Given the description of an element on the screen output the (x, y) to click on. 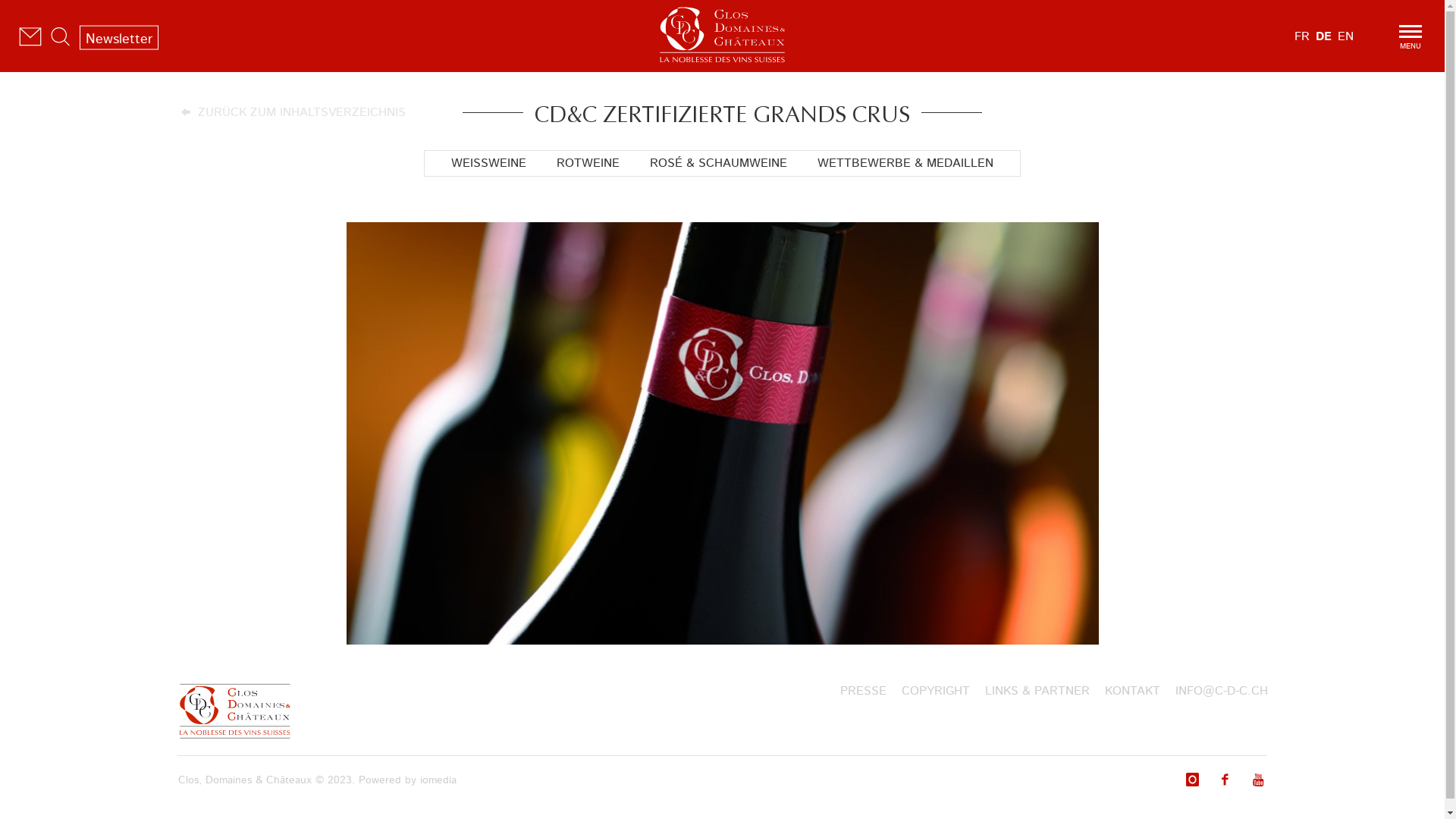
COPYRIGHT Element type: text (934, 690)
WEISSWEINE Element type: text (487, 163)
Facebook Element type: hover (1225, 780)
Youtube Element type: hover (1258, 780)
WETTBEWERBE & MEDAILLEN Element type: text (905, 163)
Contact Element type: hover (30, 35)
LINKS & PARTNER Element type: text (1036, 690)
Newsletter Element type: text (118, 37)
MENU Element type: text (1410, 35)
EN Element type: text (1345, 35)
FR Element type: text (1301, 35)
Instagram Element type: hover (1192, 780)
DE Element type: text (1323, 35)
PRESSE Element type: text (863, 690)
INFO@C-D-C.CH Element type: text (1221, 690)
iomedia Element type: text (438, 780)
KONTAKT Element type: text (1131, 690)
ROTWEINE Element type: text (587, 163)
Home Element type: hover (234, 710)
Recherche Element type: hover (60, 35)
Home Element type: hover (721, 32)
